Given the description of an element on the screen output the (x, y) to click on. 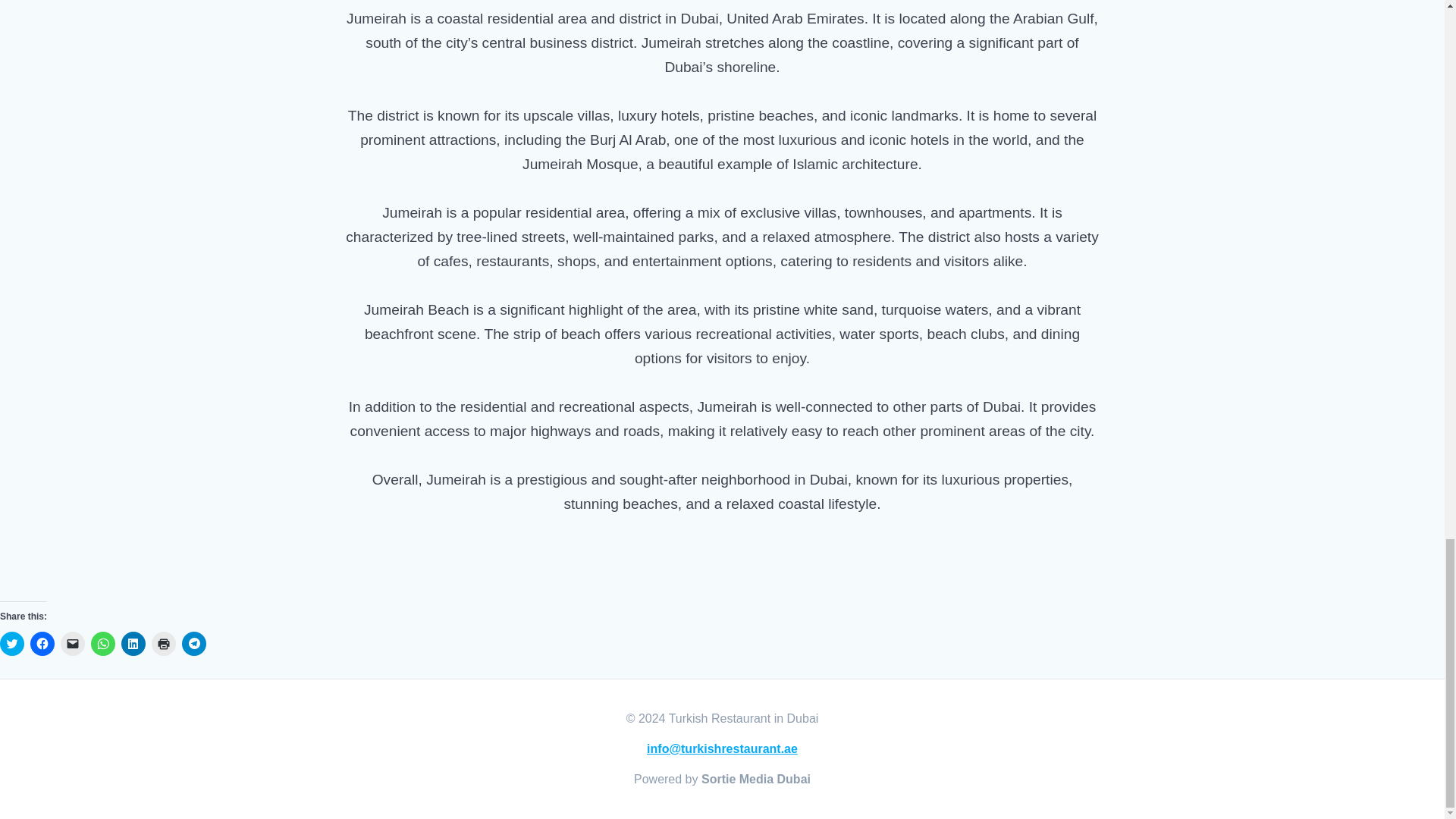
Click to share on Facebook (42, 643)
Click to share on WhatsApp (102, 643)
Click to share on Twitter (12, 643)
Click to share on LinkedIn (132, 643)
Click to email a link to a friend (72, 643)
